Given the description of an element on the screen output the (x, y) to click on. 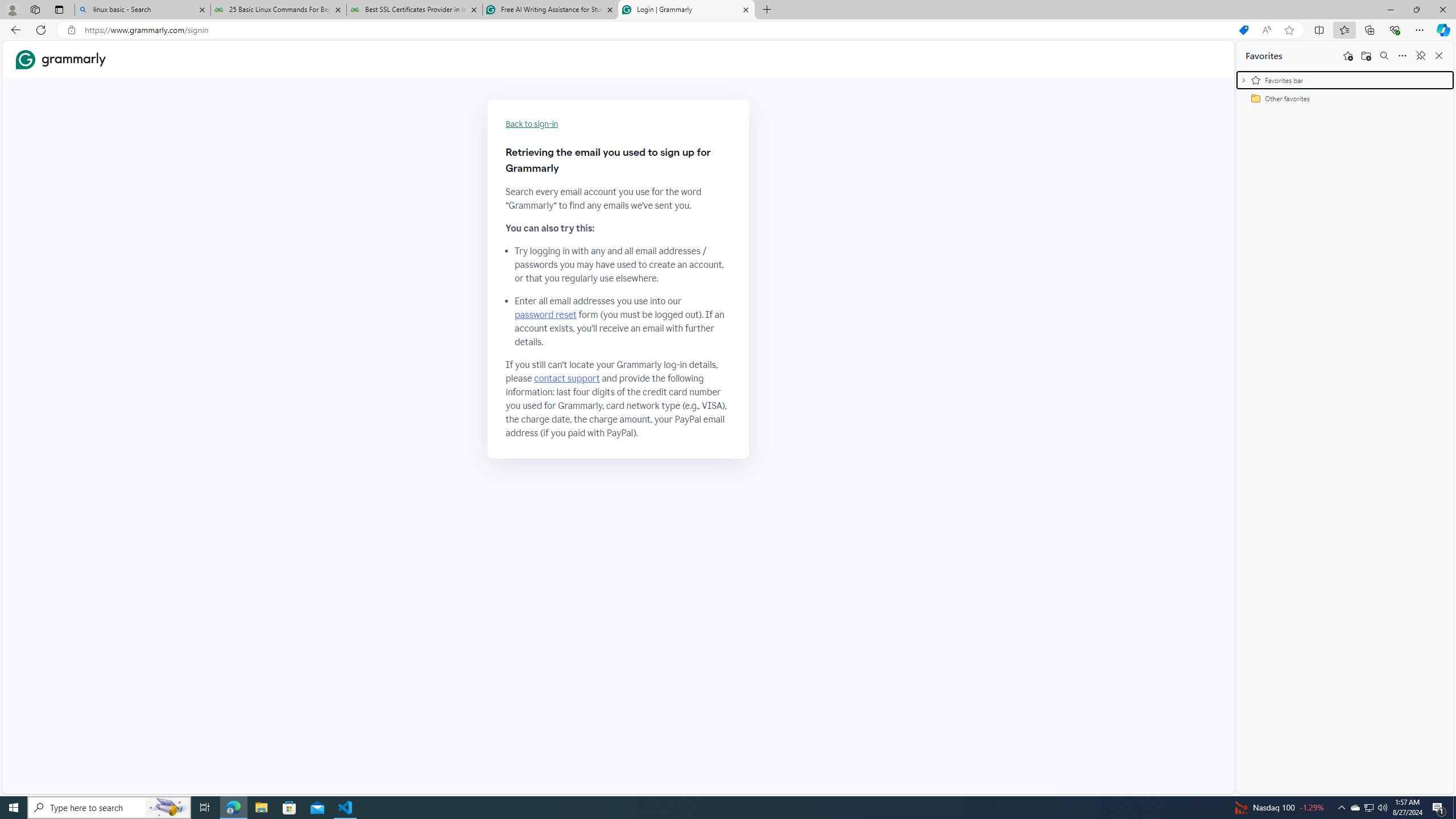
Add this page to favorites (1347, 55)
Add folder (1366, 55)
linux basic - Search (142, 9)
Best SSL Certificates Provider in India - GeeksforGeeks (414, 9)
Close favorites (1439, 55)
Grammarly Home (61, 59)
